Given the description of an element on the screen output the (x, y) to click on. 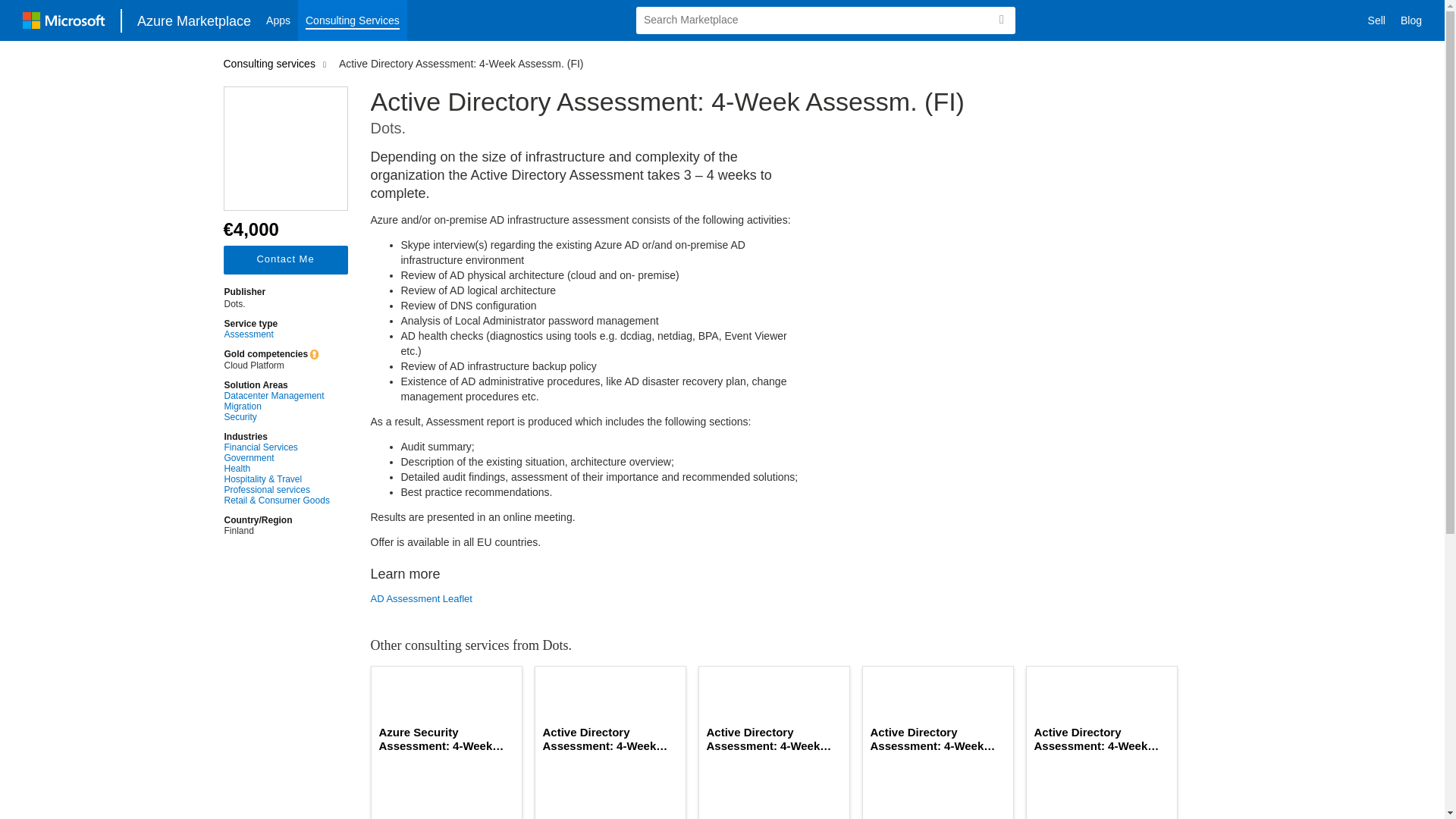
Contact Me (284, 259)
Apps (278, 20)
Government (277, 457)
Financial Services (277, 447)
Migration (277, 406)
Azure Marketplace (194, 20)
Consulting services (271, 63)
Sell (1376, 20)
Blog (1411, 20)
Datacenter Management (277, 395)
Health (277, 468)
Consulting Services (352, 20)
Search (1001, 19)
Assessment (277, 334)
Professional services (277, 489)
